Given the description of an element on the screen output the (x, y) to click on. 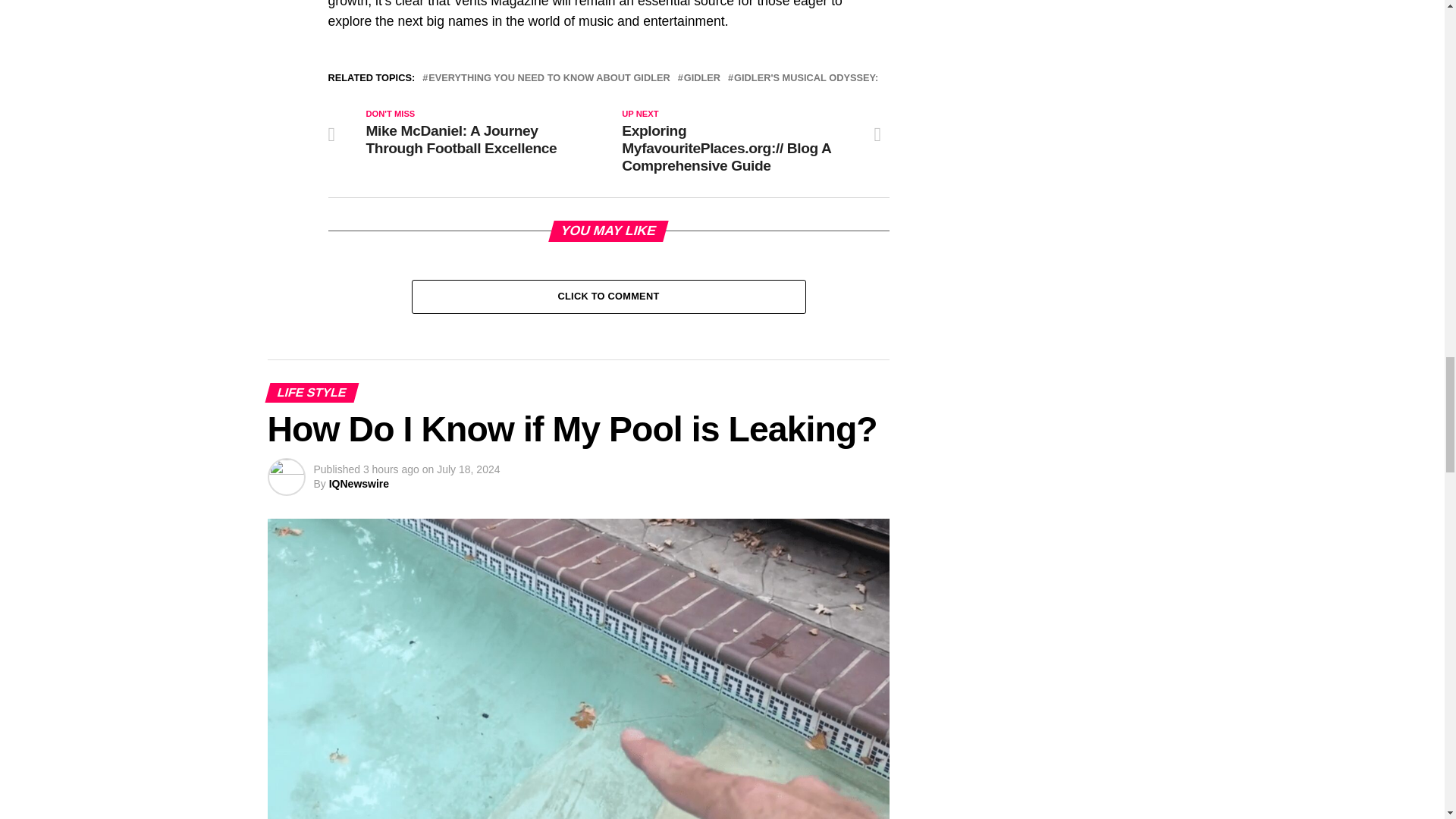
Posts by IQNewswire (358, 483)
EVERYTHING YOU NEED TO KNOW ABOUT GIDLER (548, 78)
GIDLER (702, 78)
GIDLER'S MUSICAL ODYSSEY: (805, 78)
